Given the description of an element on the screen output the (x, y) to click on. 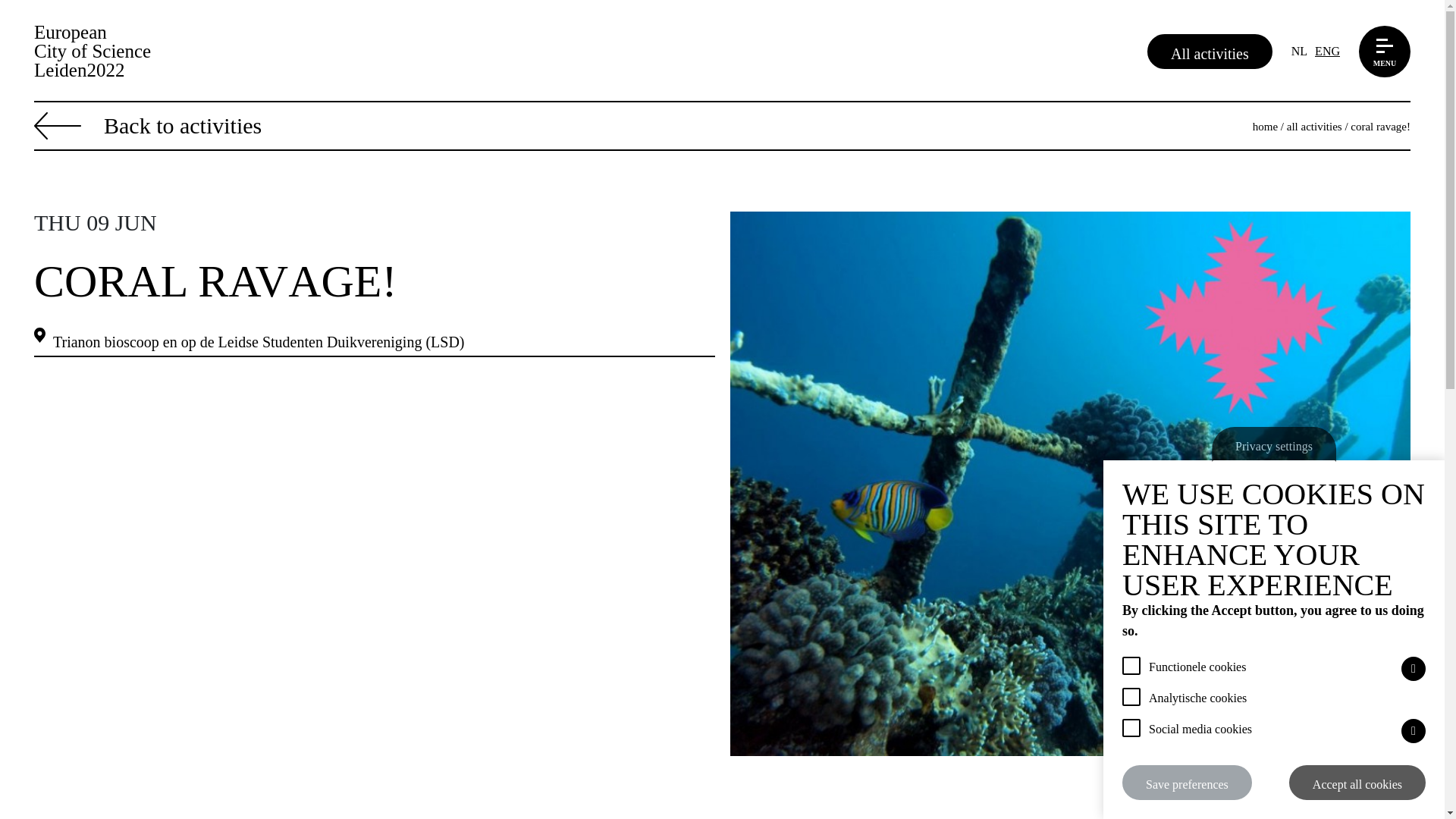
home (1265, 127)
ENG (1326, 51)
Delen via mail (1350, 791)
All activities (1209, 50)
all activities (1314, 127)
Privacy settings (1273, 443)
Save preferences (1187, 782)
MENU (1384, 50)
Withdraw consent (1128, 766)
Back to activities (147, 126)
Delen via Whatsapp (1307, 791)
coral ravage! (1380, 127)
Accept all cookies (1356, 782)
